Given the description of an element on the screen output the (x, y) to click on. 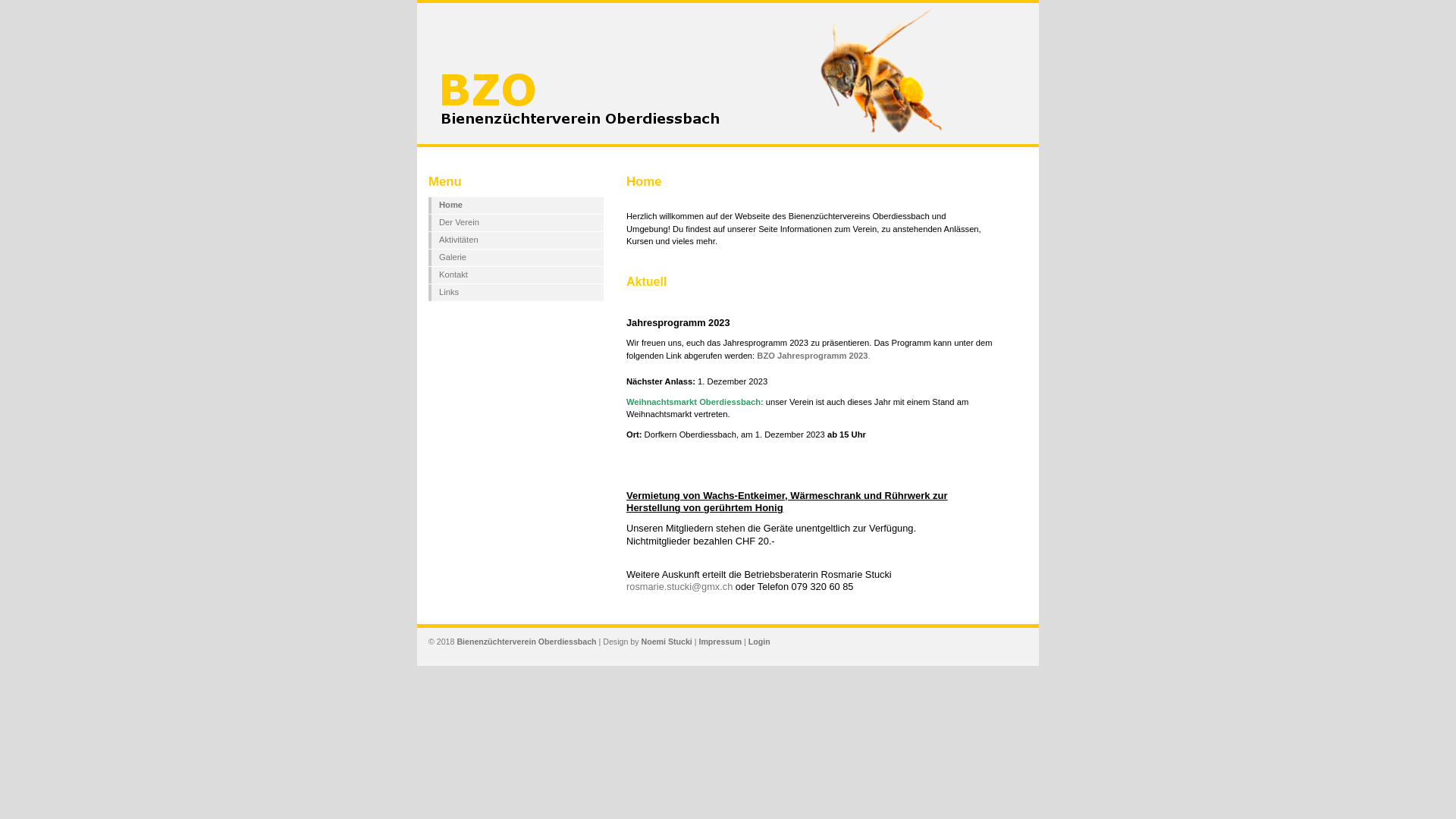
Impressum Element type: text (719, 641)
Kontakt Element type: text (515, 274)
Galerie Element type: text (515, 257)
Links Element type: text (515, 292)
Noemi Stucki Element type: text (665, 641)
BZO Jahresprogramm 2023. Element type: text (878, 362)
Der Verein Element type: text (515, 222)
Home Element type: text (515, 205)
rosmarie.stucki@gmx.ch Element type: text (679, 586)
Login Element type: text (759, 641)
